Given the description of an element on the screen output the (x, y) to click on. 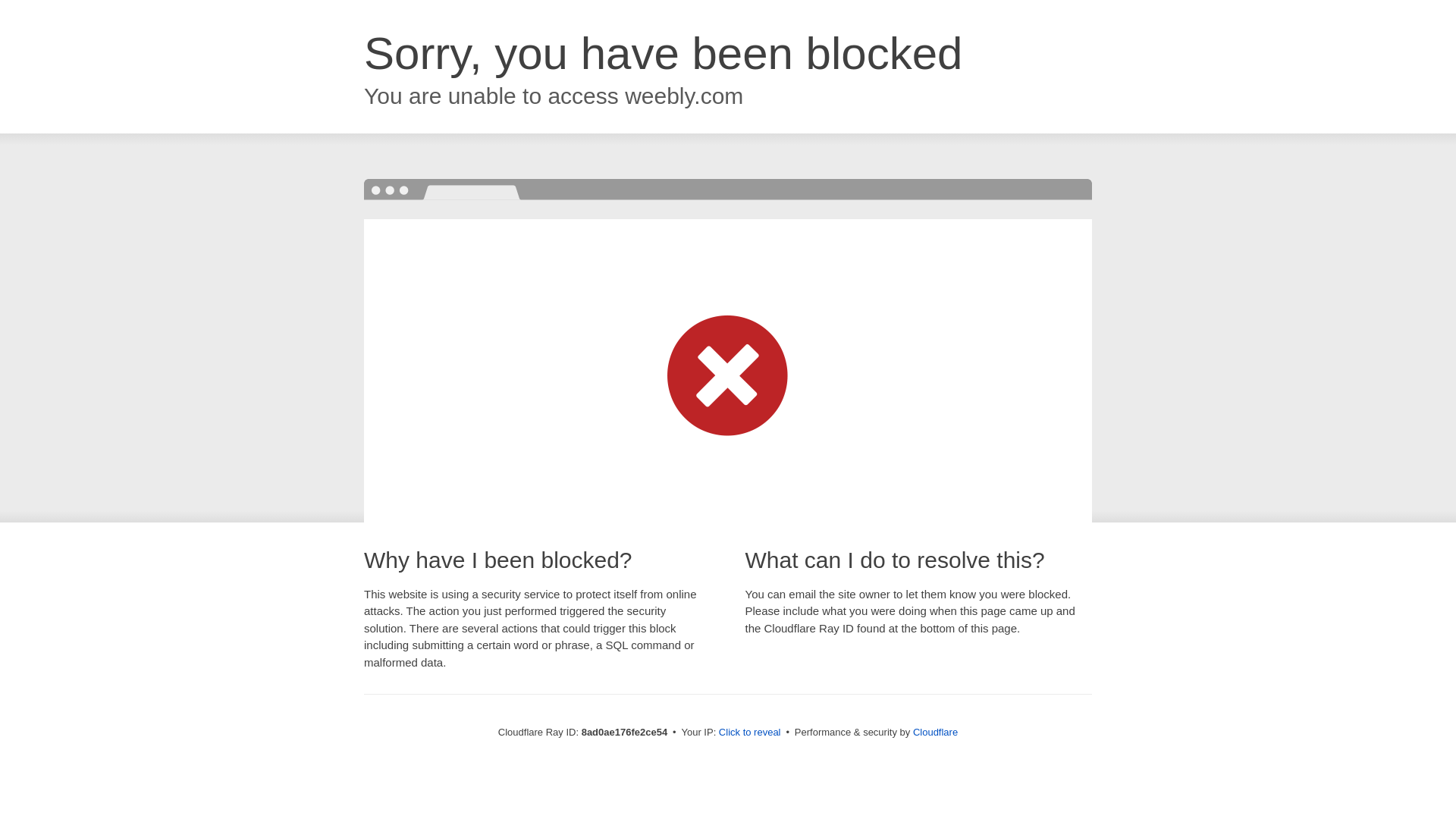
Click to reveal (749, 732)
Cloudflare (935, 731)
